Given the description of an element on the screen output the (x, y) to click on. 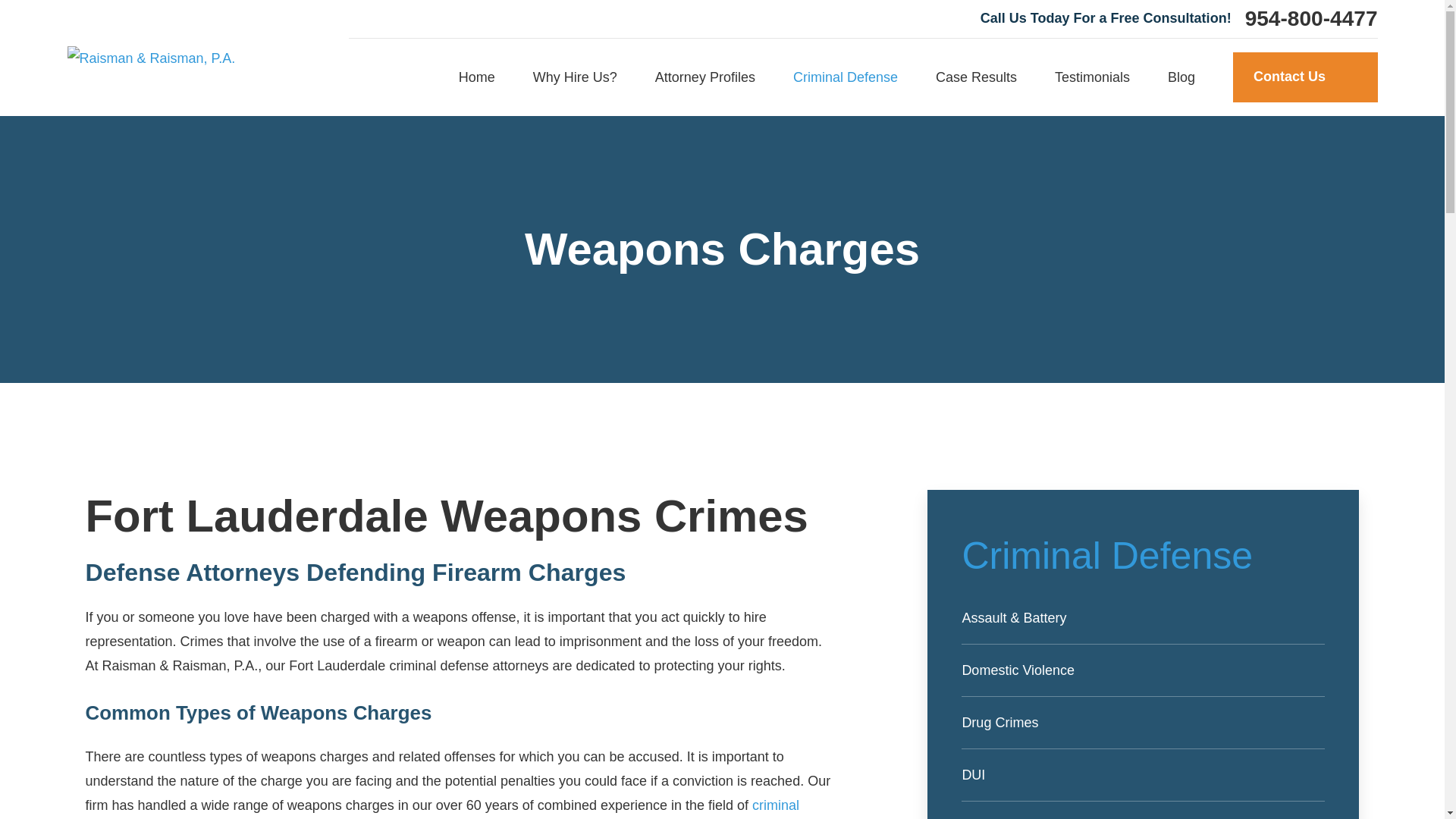
Attorney Profiles (705, 77)
Home (150, 58)
954-800-4477 (1310, 18)
Testimonials (1091, 77)
Case Results (976, 77)
Why Hire Us? (574, 77)
Criminal Defense (845, 77)
